Given the description of an element on the screen output the (x, y) to click on. 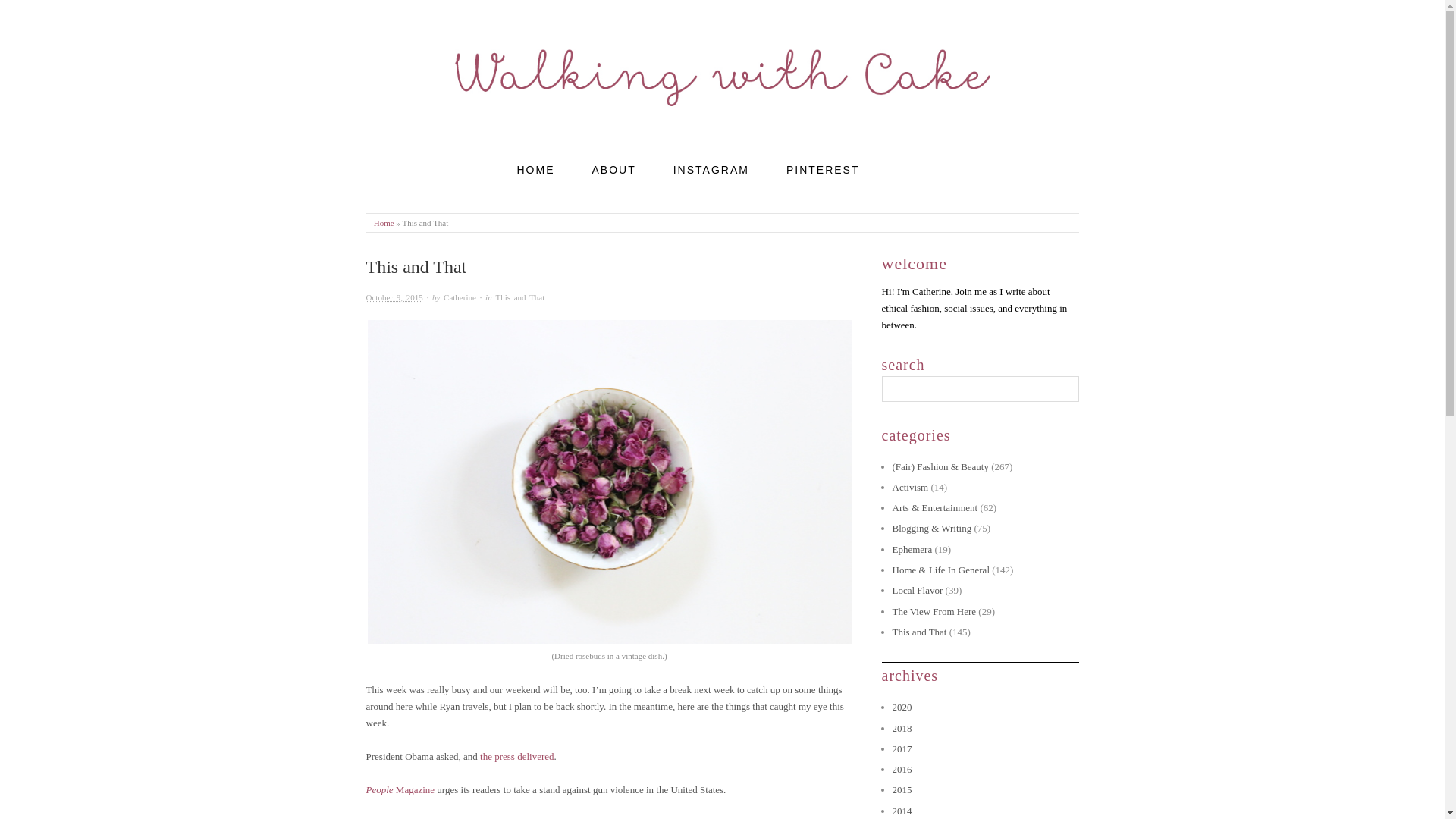
This and That (519, 297)
Friday, October 9th, 2015, 12:00 am (393, 297)
John Oliver on the Oregon shooting (435, 818)
Catherine (460, 297)
This and That (918, 632)
2017 (901, 748)
INSTAGRAM (710, 188)
Walking with Cake (384, 222)
Local Flavor (916, 590)
2020 (901, 706)
2020 (901, 706)
ABOUT (612, 188)
Catherine (460, 297)
PINTEREST (823, 188)
